Given the description of an element on the screen output the (x, y) to click on. 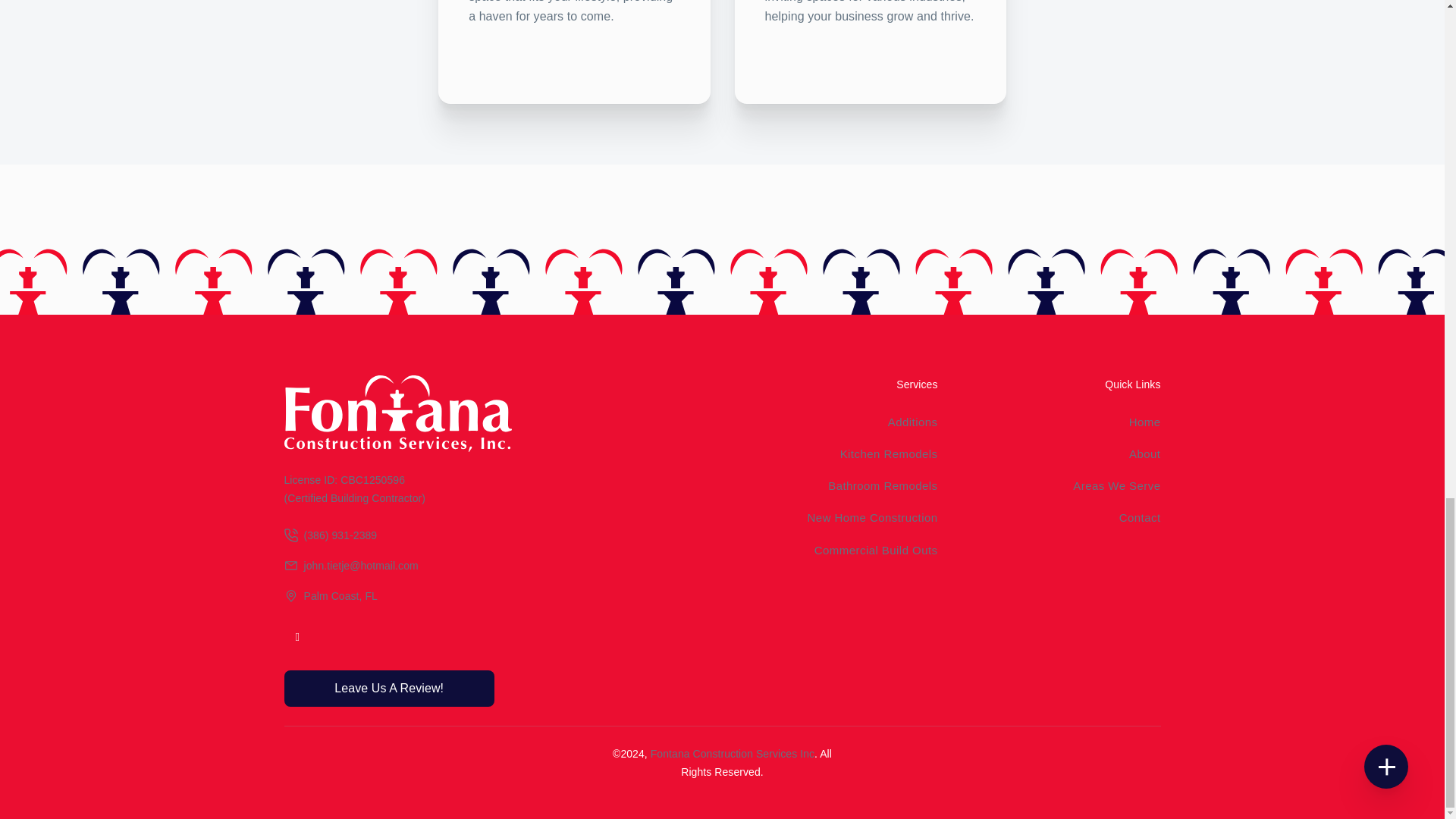
Read more (869, 54)
Read more (573, 54)
Palm Coast, FL (388, 596)
